Given the description of an element on the screen output the (x, y) to click on. 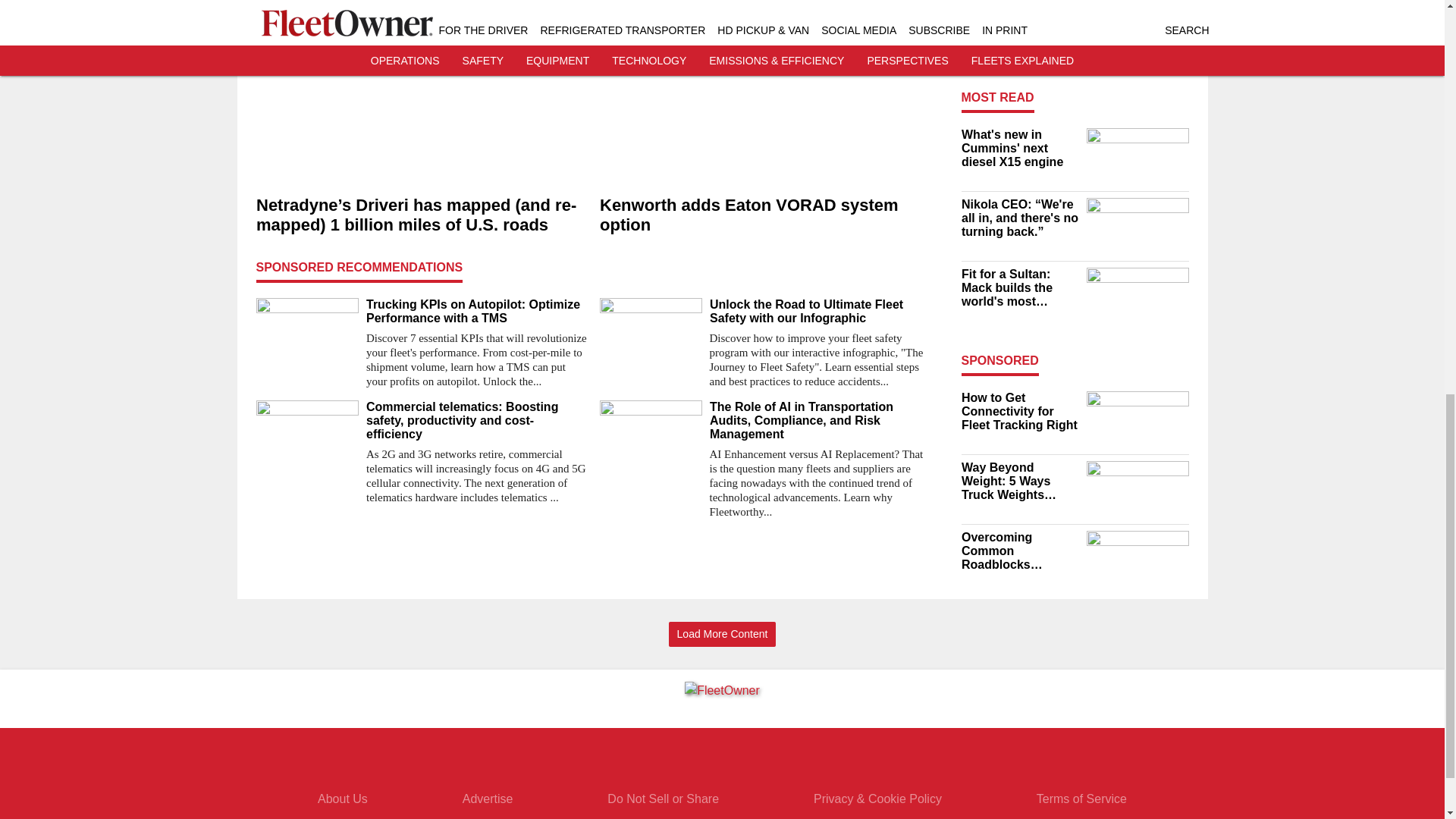
Kenworth adds Eaton VORAD system option (764, 215)
Trucking KPIs on Autopilot: Optimize Performance with a TMS (476, 311)
